Given the description of an element on the screen output the (x, y) to click on. 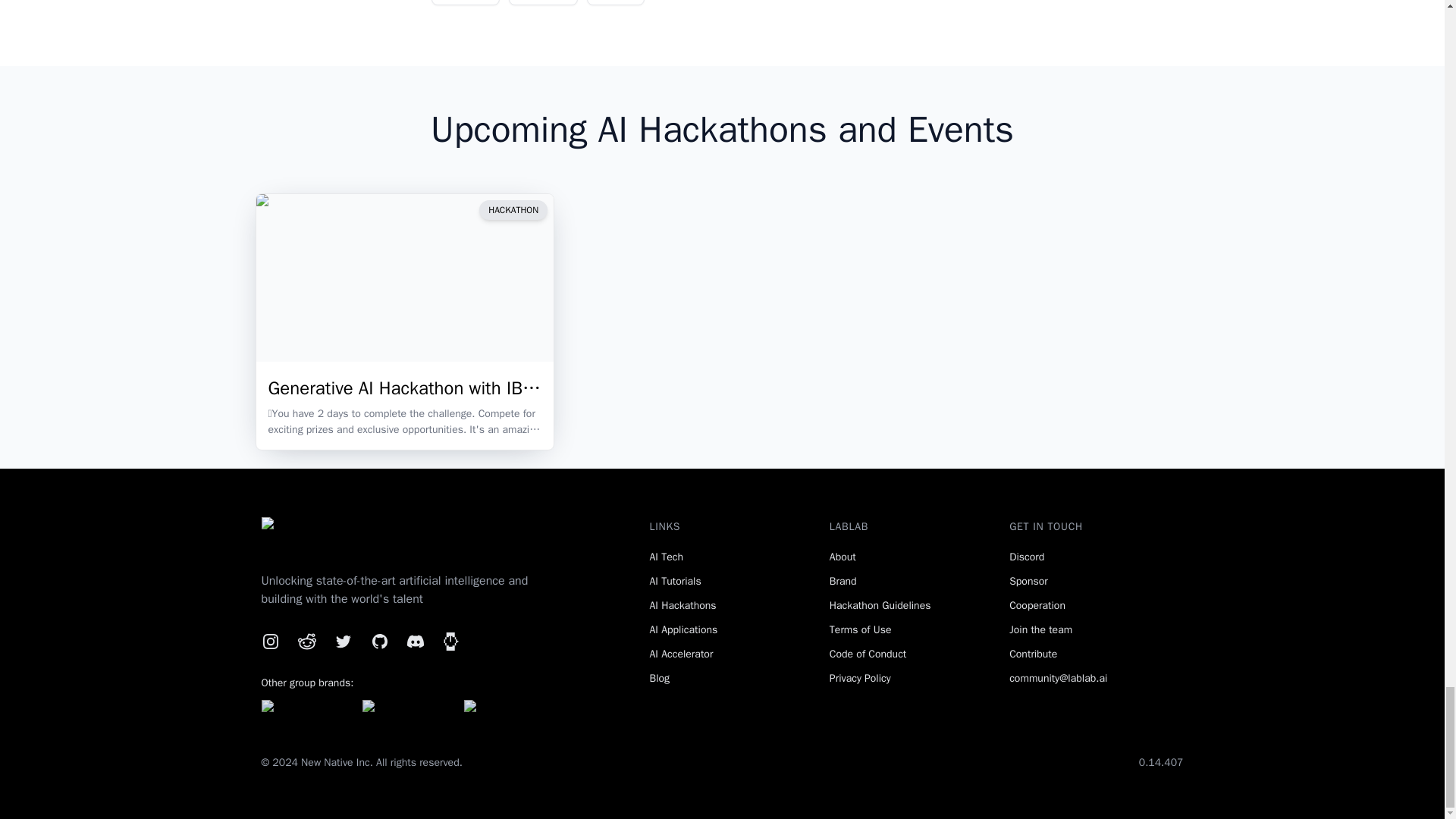
HackerNoon (450, 641)
HACKATHON (513, 209)
Discord (414, 641)
Share (464, 2)
Twitter (342, 641)
GitHub (378, 641)
Instagram (269, 641)
Share (543, 2)
Share (465, 0)
Copy (615, 2)
